Given the description of an element on the screen output the (x, y) to click on. 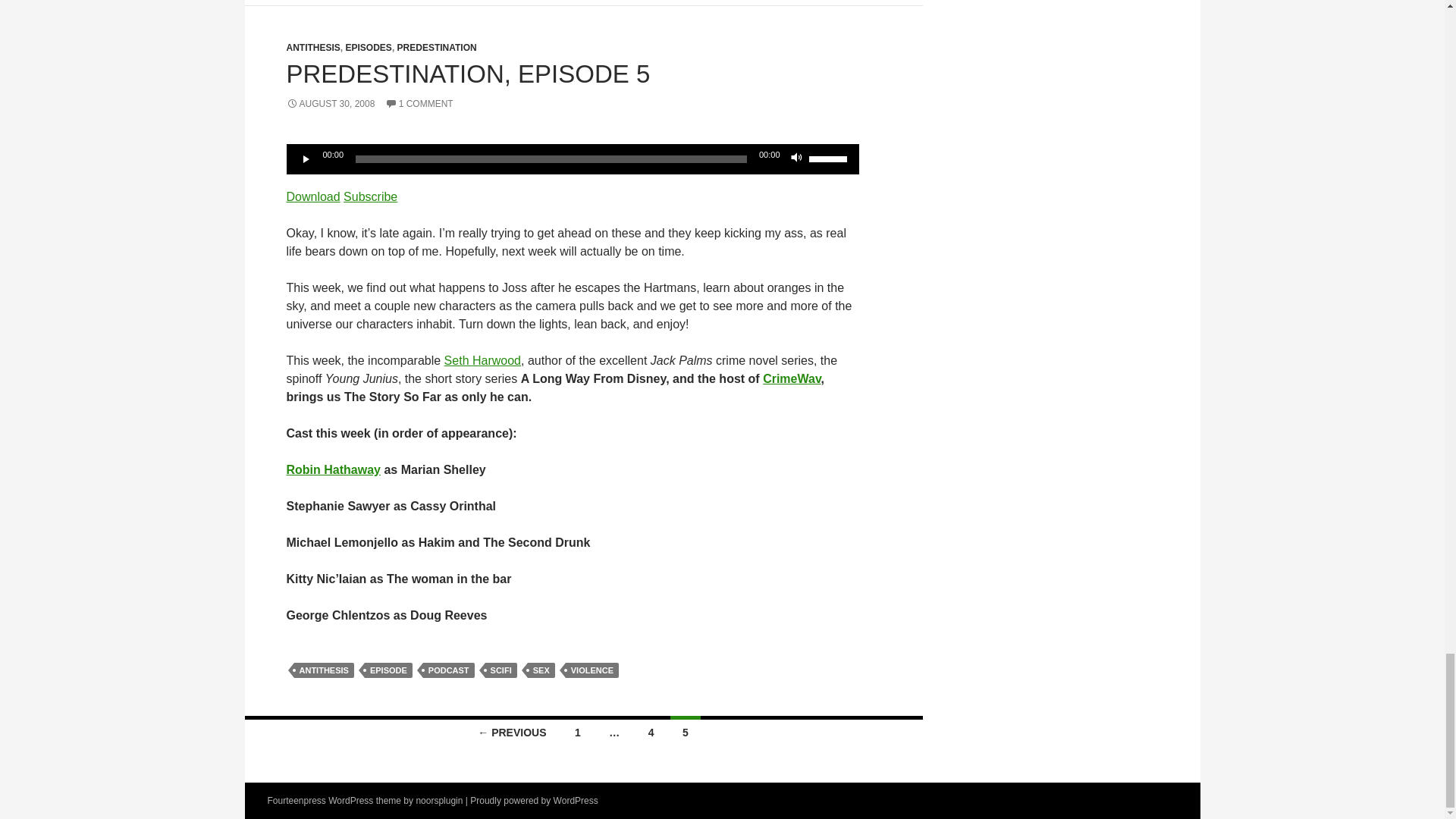
Play (306, 159)
Mute (796, 159)
